Given the description of an element on the screen output the (x, y) to click on. 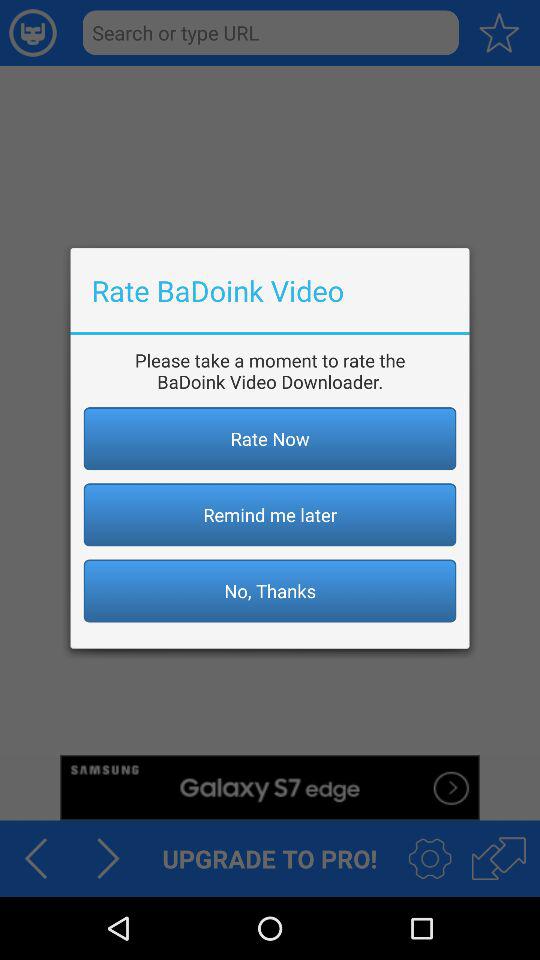
turn off button below rate now icon (269, 514)
